Given the description of an element on the screen output the (x, y) to click on. 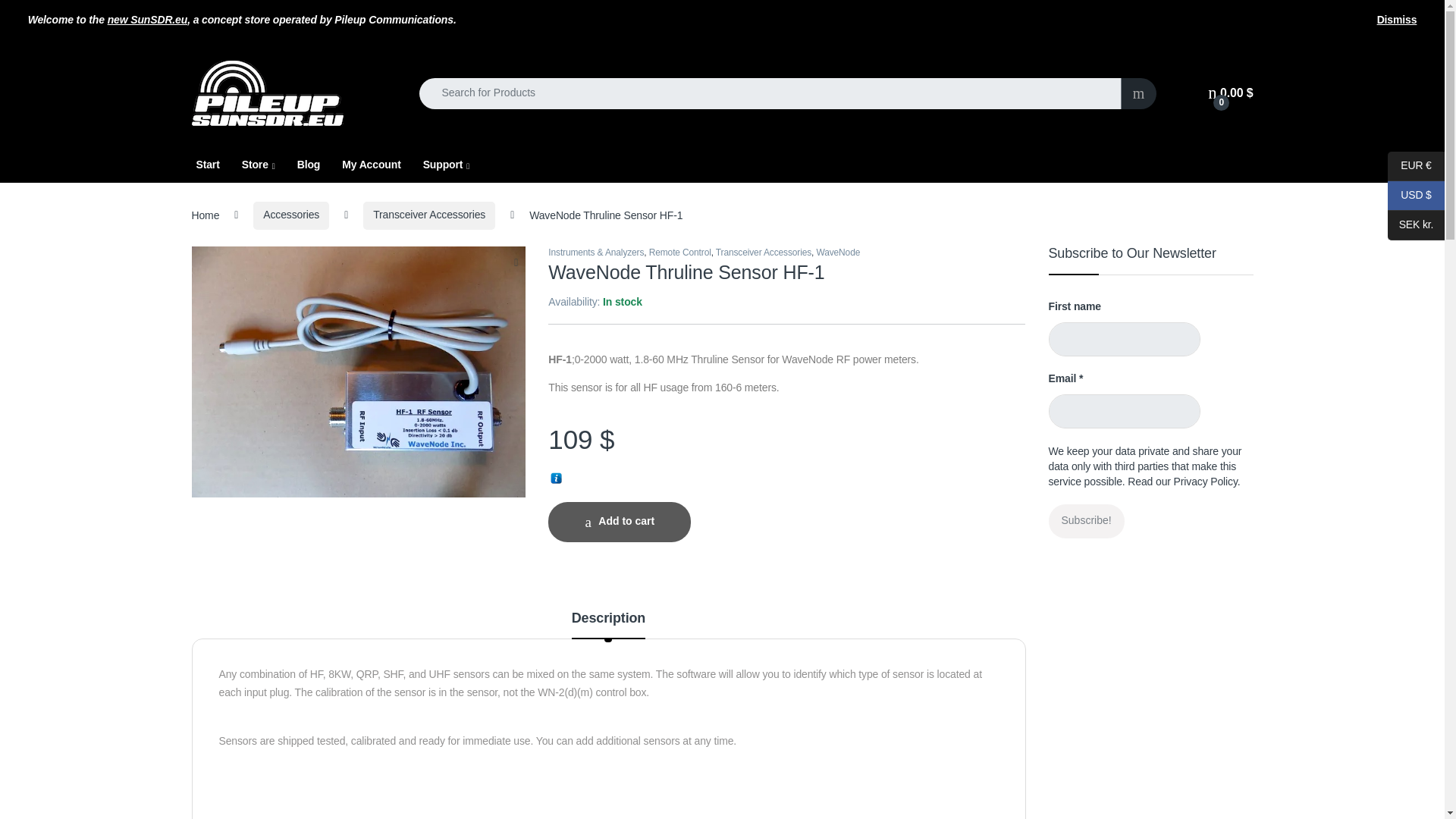
Store (257, 165)
Subscribe! (1086, 521)
Start (207, 165)
